Given the description of an element on the screen output the (x, y) to click on. 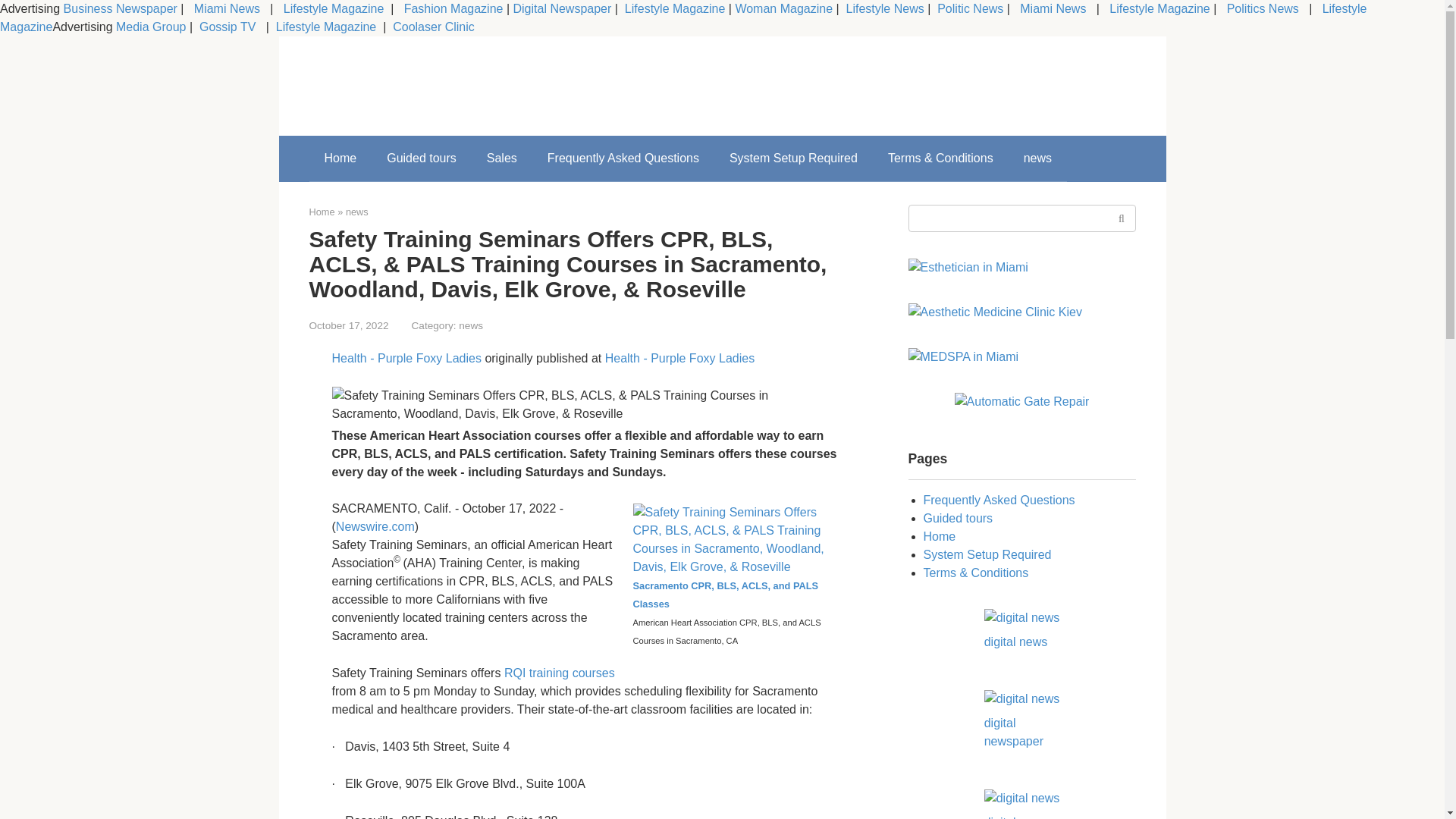
news (357, 211)
Lifestyle News (883, 8)
Gossip TV (229, 26)
Lifestyle Magazine (673, 8)
Home (340, 157)
Media Group (151, 26)
Lifestyle Magazine (1157, 8)
Aesthetic Medicine Clinic Kiev (994, 488)
Health - Purple Foxy Ladies (679, 358)
Miami News (1052, 8)
Lifestyle Magazine (326, 26)
news (1038, 157)
Coolaser Clinic (433, 26)
news (470, 325)
Business Newspaper (120, 8)
